Given the description of an element on the screen output the (x, y) to click on. 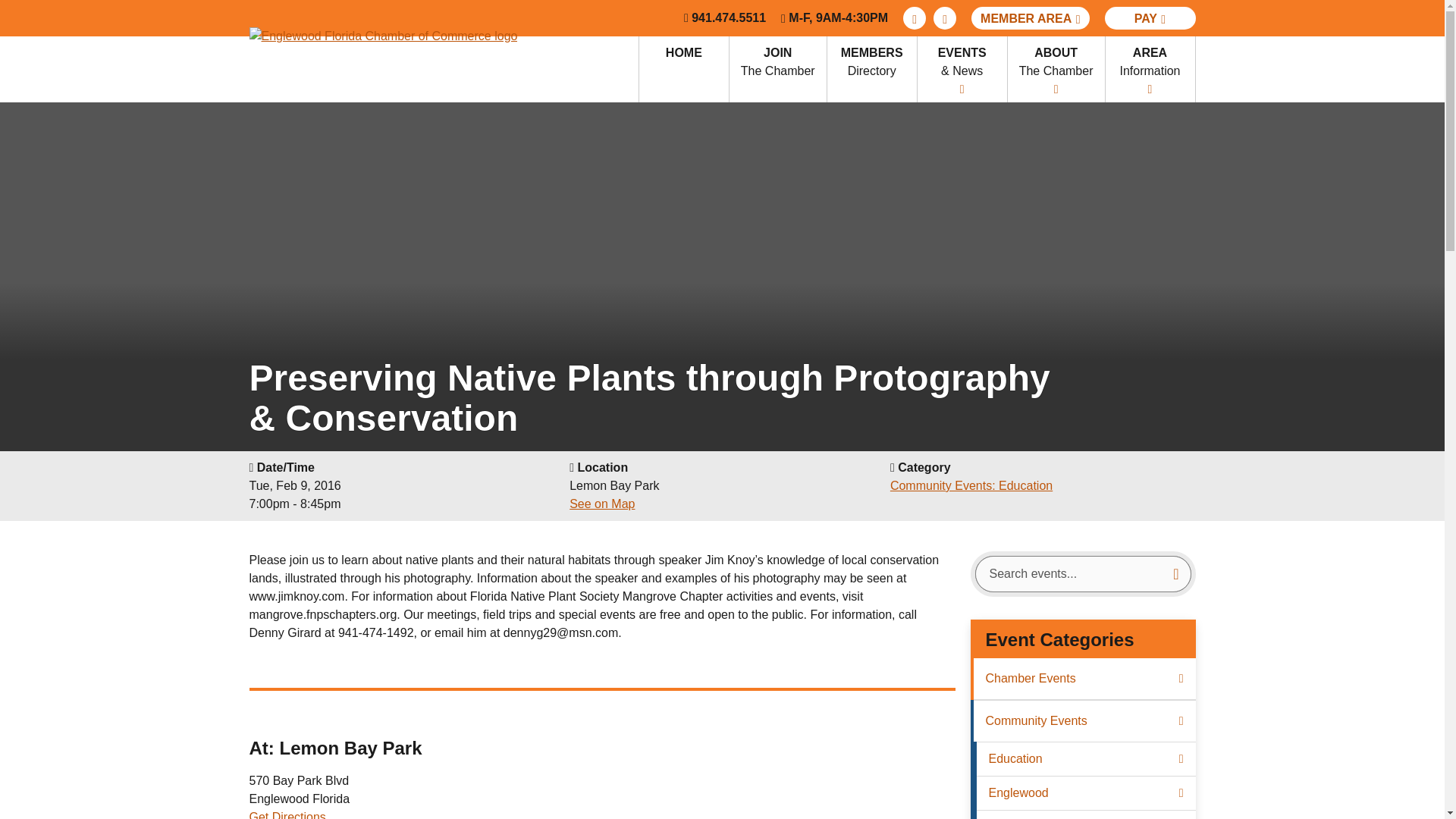
MEMBER AREA (1030, 17)
HOME (872, 69)
Instagram (684, 69)
PAY (778, 69)
Skip to main content (944, 17)
Skip to main content (1149, 17)
